Given the description of an element on the screen output the (x, y) to click on. 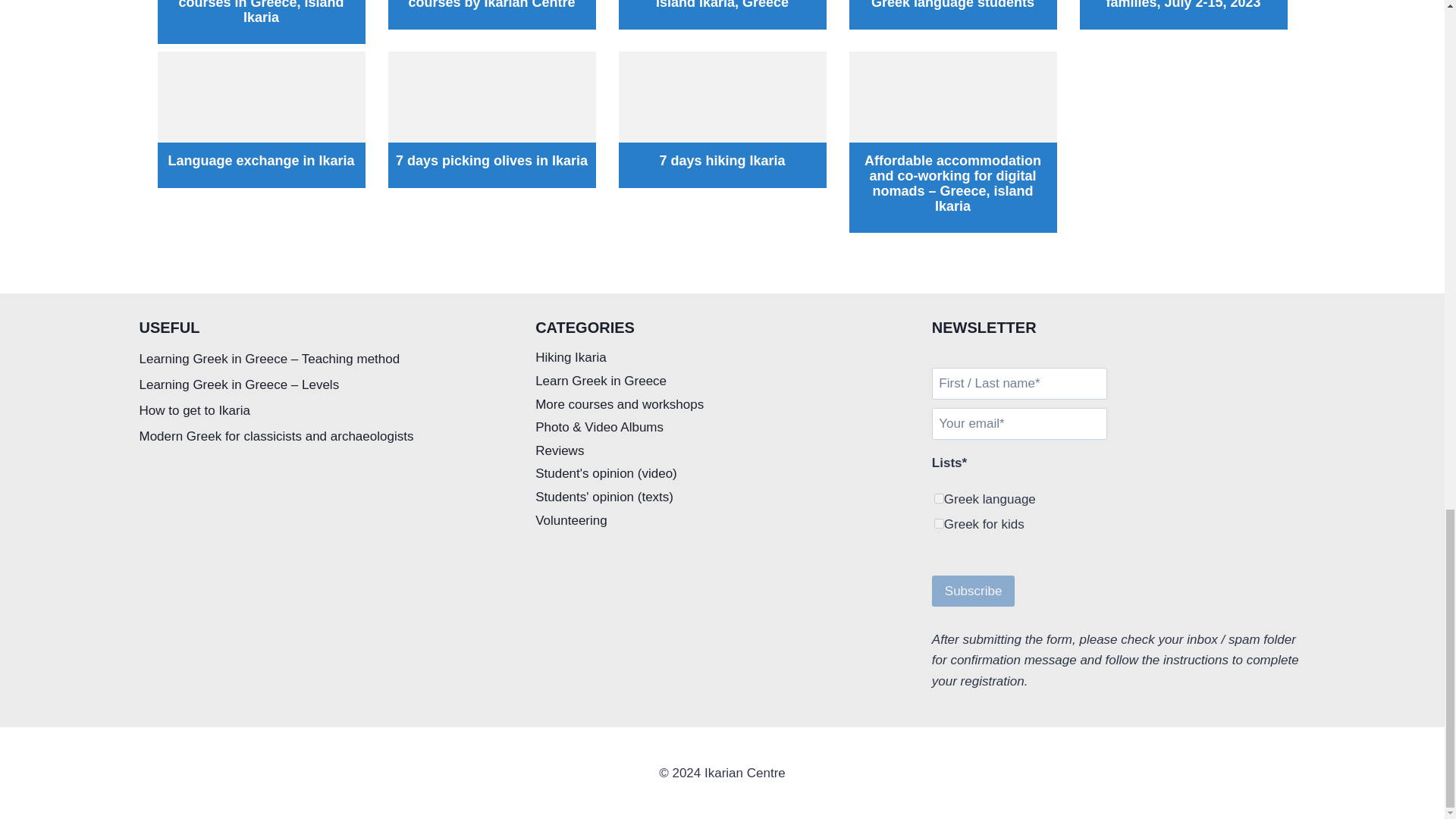
Online Greek language courses by Ikarian Centre (491, 5)
80b157080d67 (938, 523)
Greek literature course for Greek language students (952, 5)
Efficient Greek language courses in Greece, island Ikaria (260, 12)
Greek course in Easter 2024, island Ikaria, Greece (722, 5)
Subscribe (972, 590)
Language exchange in Ikaria (260, 160)
cff00c5cee8e (938, 498)
